Given the description of an element on the screen output the (x, y) to click on. 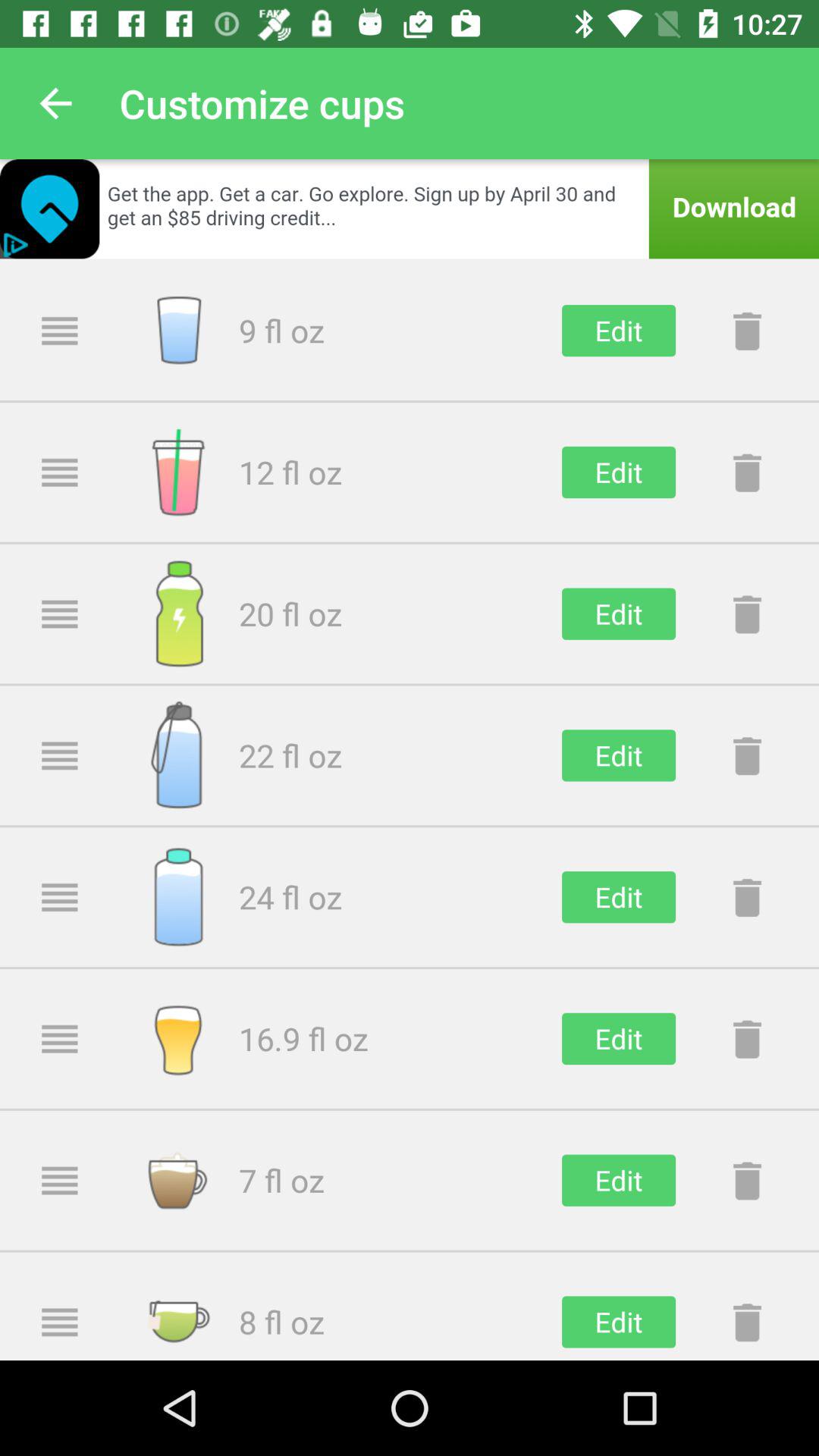
move to trash (747, 1180)
